Given the description of an element on the screen output the (x, y) to click on. 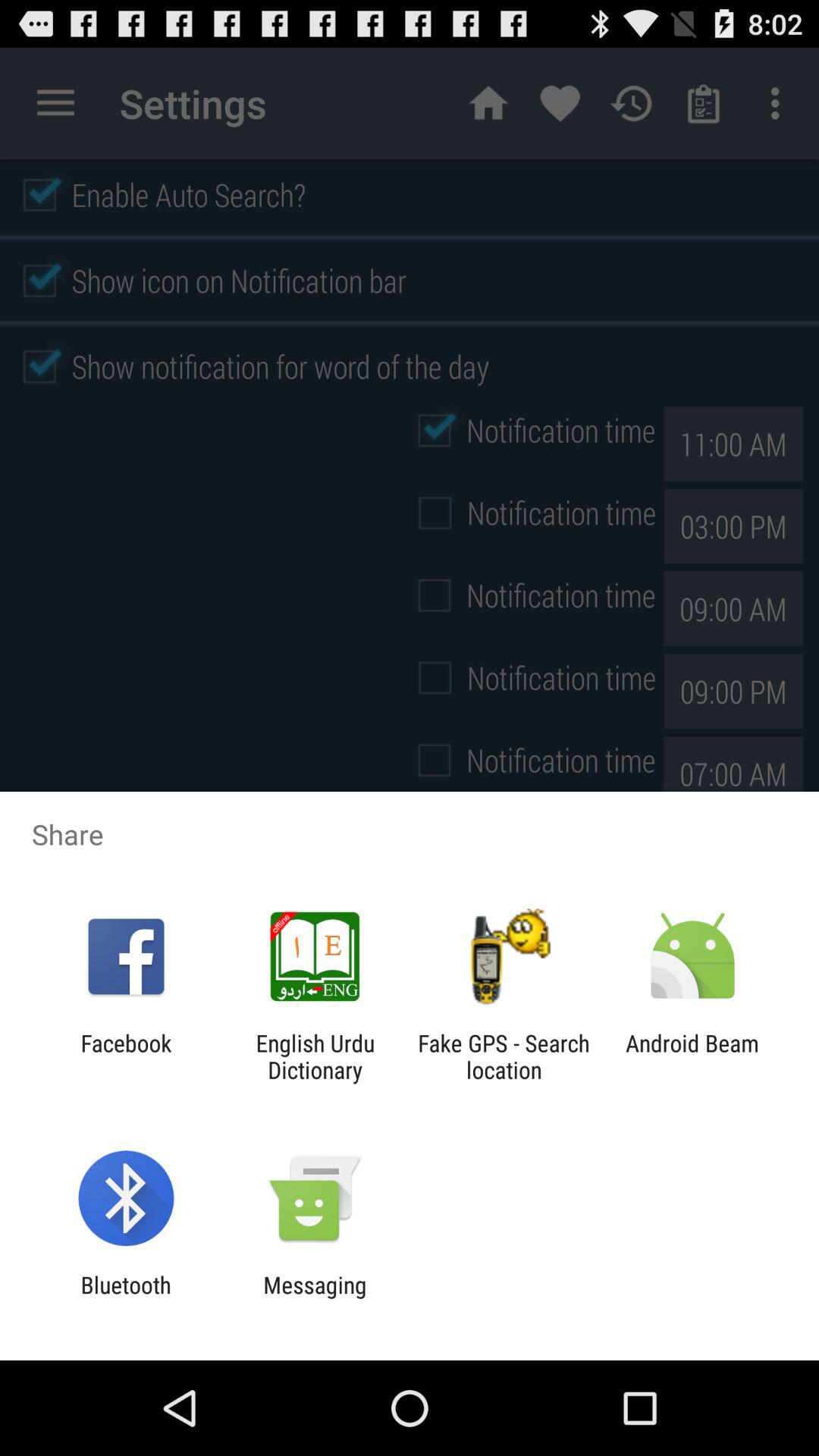
launch icon to the left of messaging (125, 1298)
